Given the description of an element on the screen output the (x, y) to click on. 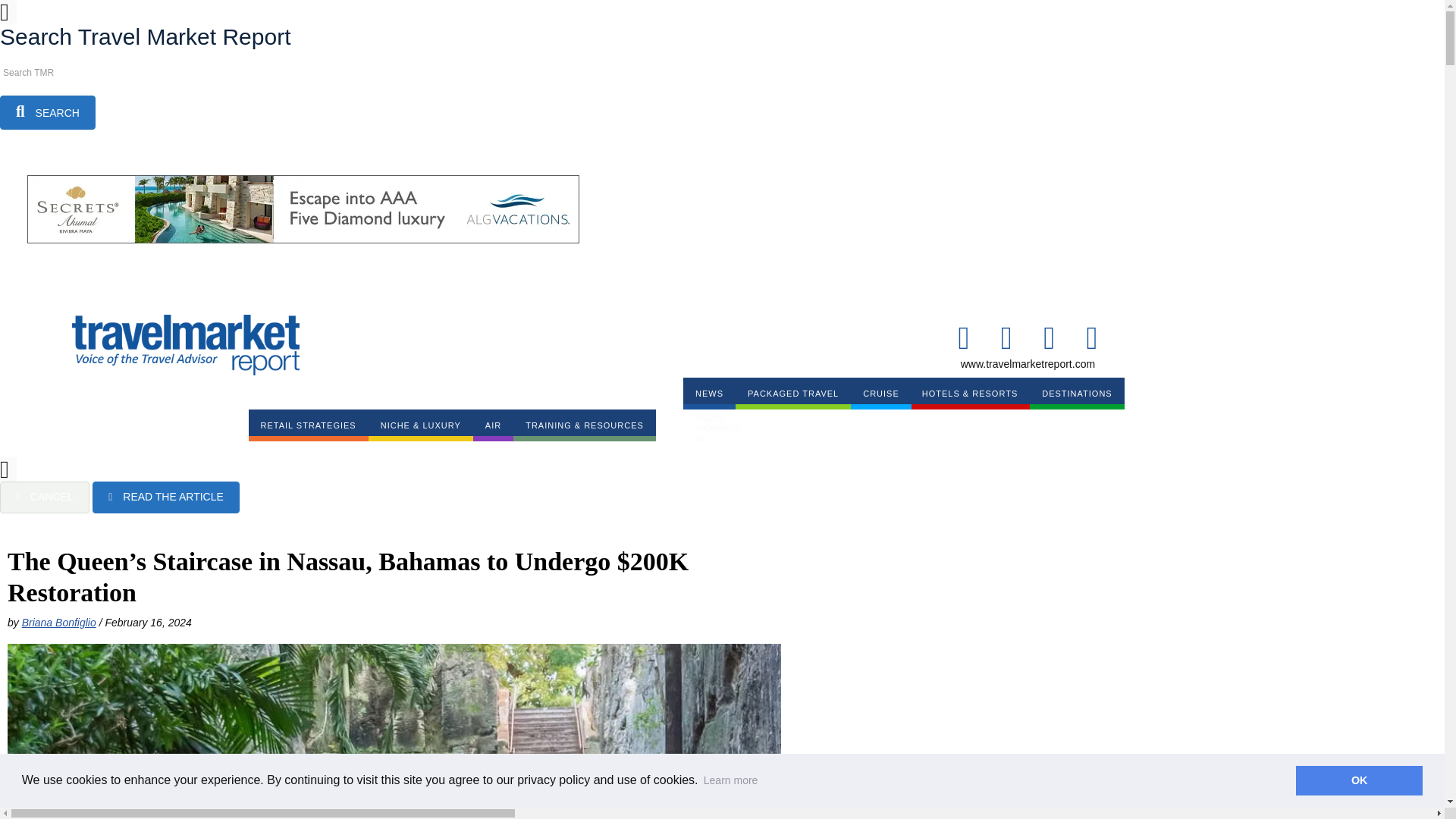
Search TMR (68, 72)
RETAIL STRATEGIES (308, 425)
PACKAGED TRAVEL (792, 393)
Learn more (730, 780)
DESTINATIONS (1076, 393)
NEWS (708, 393)
CANCEL (44, 497)
AIR (493, 425)
READ THE ARTICLE (166, 497)
SEARCH (48, 112)
OK (1358, 780)
Search TMR (68, 72)
CRUISE (880, 393)
Briana Bonfiglio (58, 622)
